Given the description of an element on the screen output the (x, y) to click on. 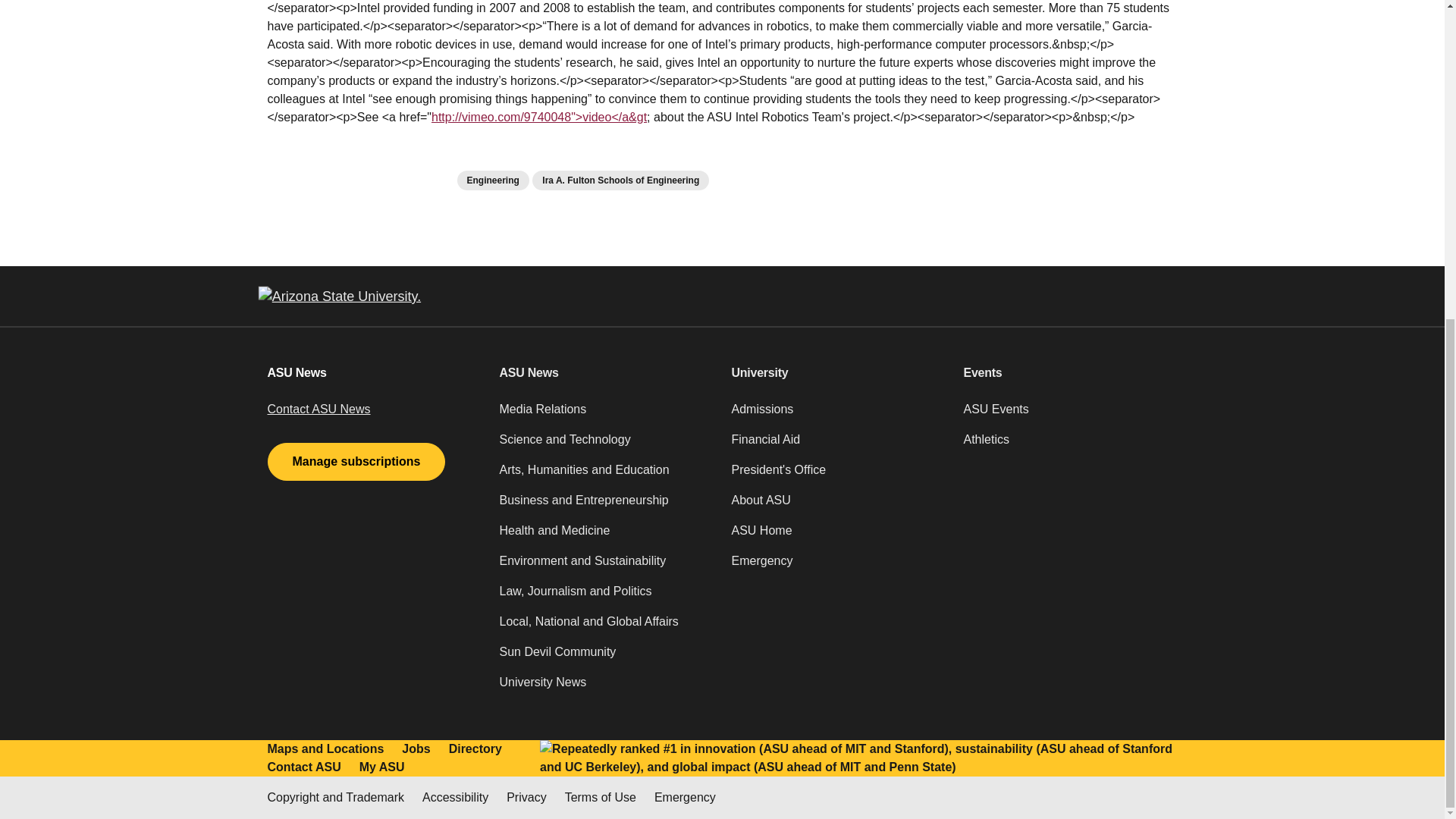
Athletics (1069, 445)
Manage subscriptions (355, 461)
Sun Devil Community (606, 657)
Science and Technology (606, 445)
Engineering (492, 180)
Contact ASU News (317, 408)
Law, Journalism and Politics (606, 597)
Health and Medicine (606, 536)
My ASU (381, 767)
Arts, Humanities and Education (606, 476)
Events (1069, 372)
ASU News (606, 372)
Ira A. Fulton Schools of Engineering (620, 180)
Financial Aid (837, 445)
Maps and Locations (325, 749)
